Given the description of an element on the screen output the (x, y) to click on. 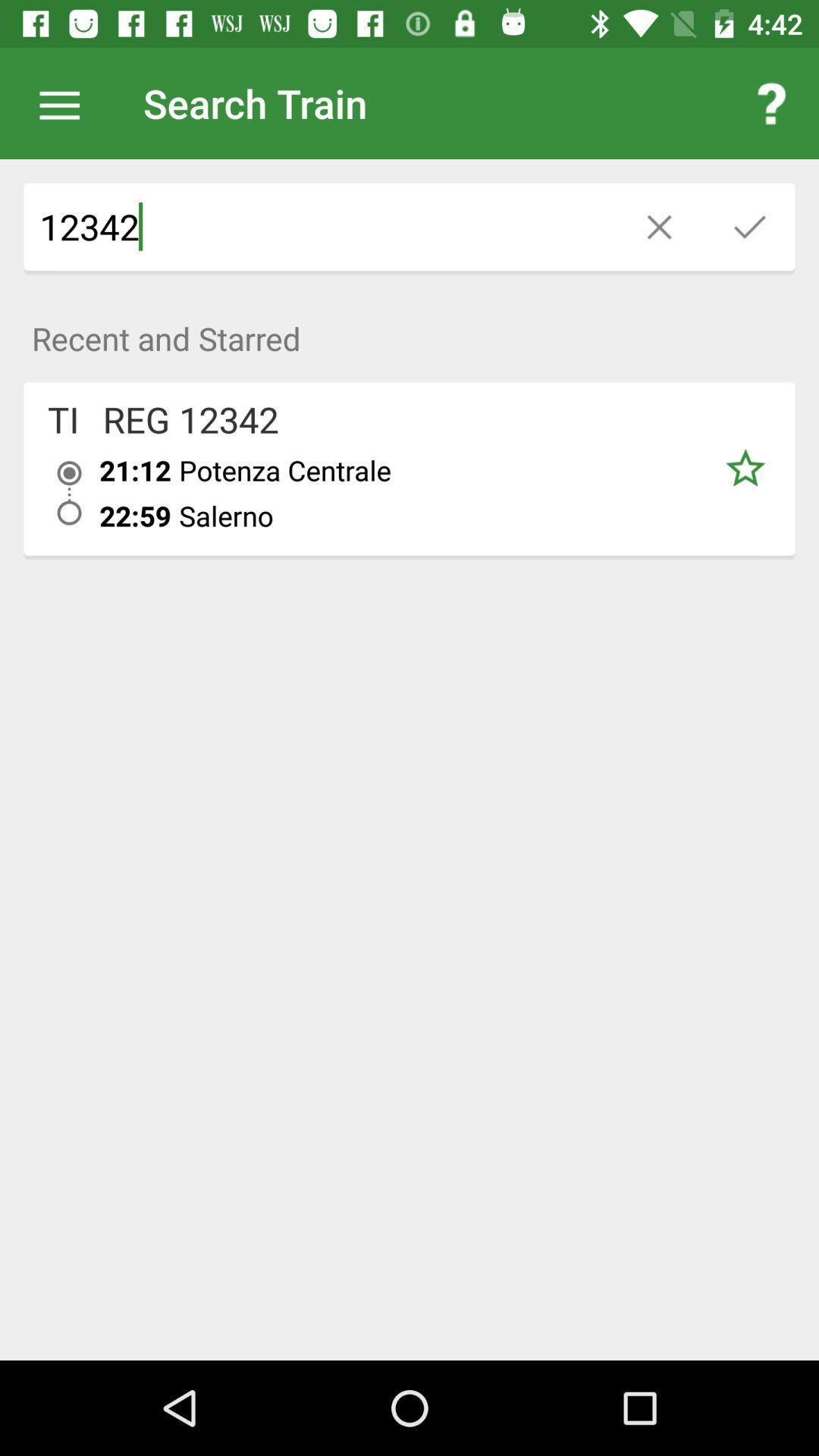
turn on the icon next to 21:12 icon (63, 419)
